Given the description of an element on the screen output the (x, y) to click on. 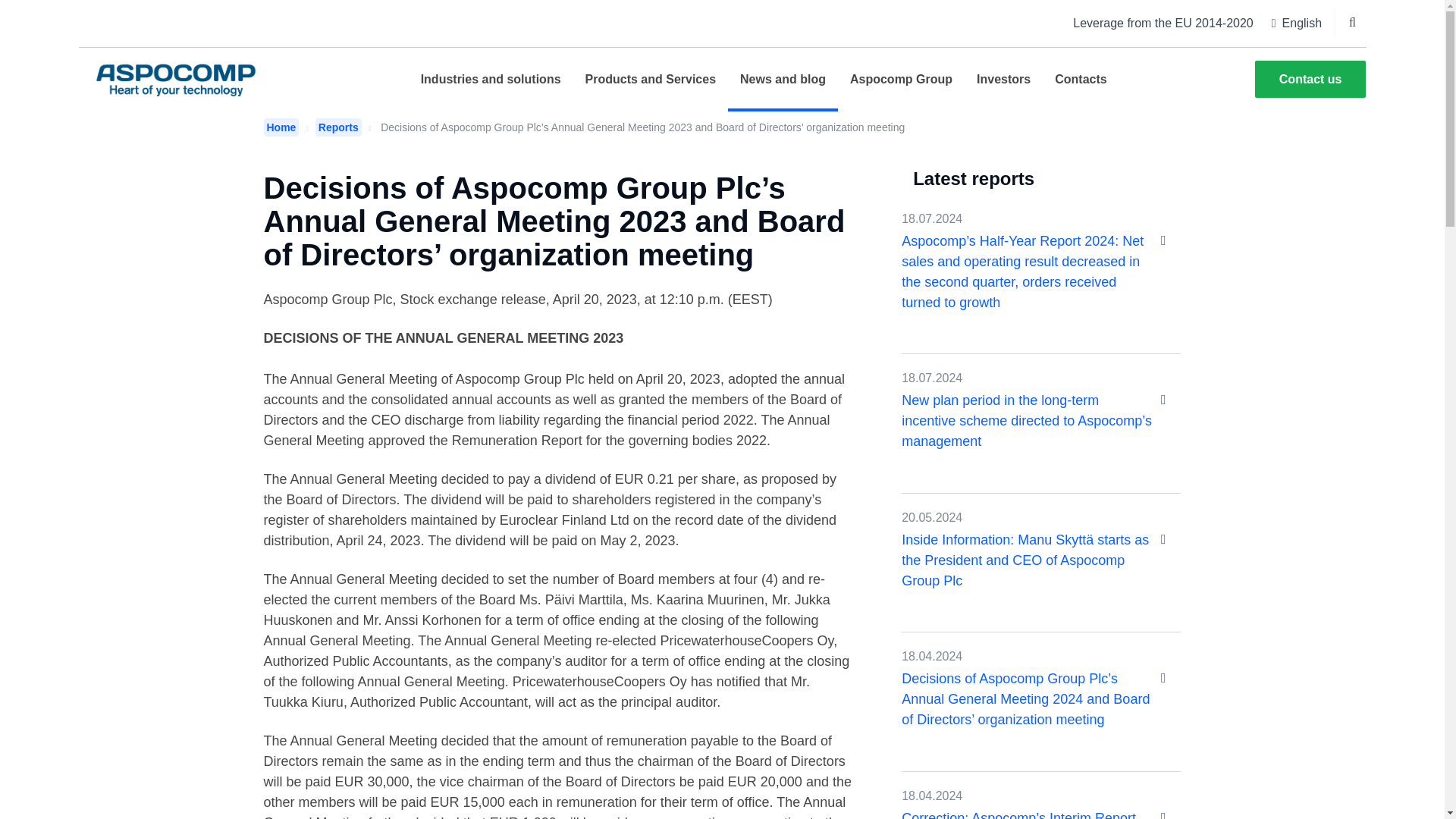
Industries and solutions (491, 78)
Products and Services (651, 78)
Leverage from the EU 2014-2020 (1163, 23)
Latest reports (972, 178)
English (1296, 23)
